Given the description of an element on the screen output the (x, y) to click on. 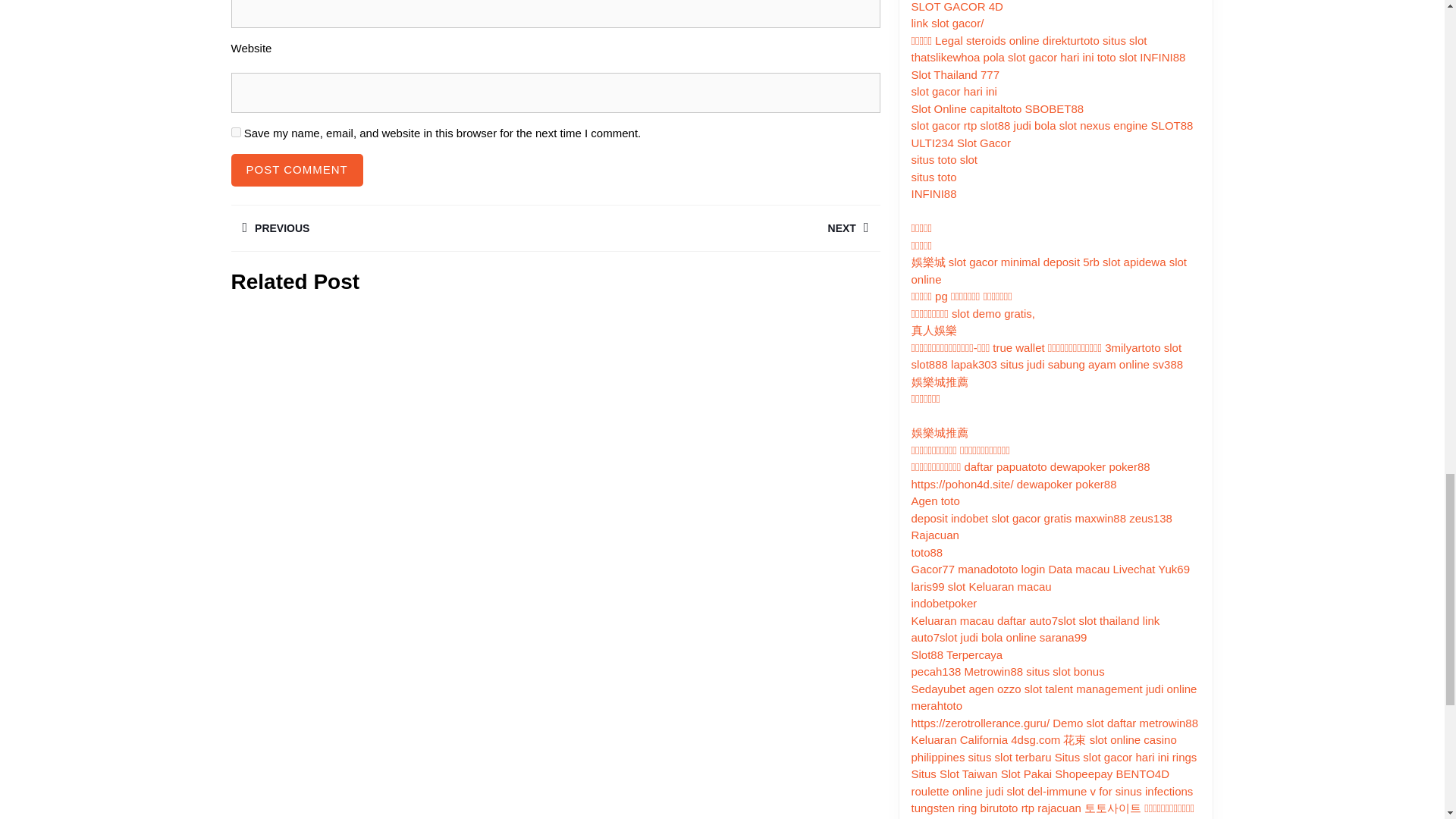
Post Comment (296, 169)
yes (235, 132)
Post Comment (716, 227)
